Given the description of an element on the screen output the (x, y) to click on. 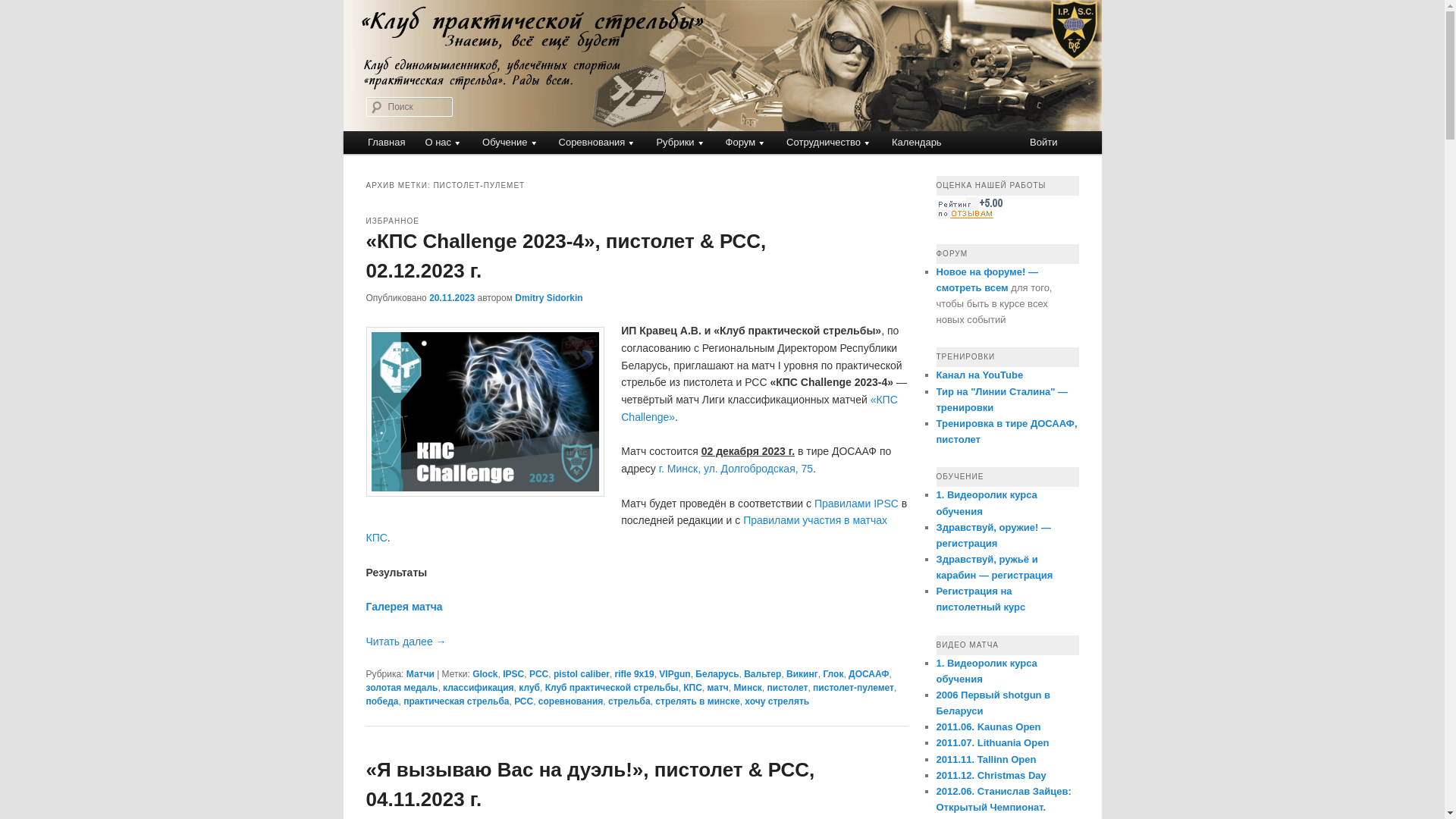
VIPgun Element type: text (674, 673)
2011.11. Tallinn Open Element type: text (985, 759)
PCC Element type: text (538, 673)
rifle 9x19 Element type: text (634, 673)
Dmitry Sidorkin Element type: text (548, 297)
20.11.2023 Element type: text (451, 297)
pistol caliber Element type: text (581, 673)
Glock Element type: text (484, 673)
2011.06. Kaunas Open Element type: text (987, 726)
IPSC Element type: text (513, 673)
2011.07. Lithuania Open Element type: text (991, 742)
2011.12. Christmas Day Element type: text (990, 775)
